Given the description of an element on the screen output the (x, y) to click on. 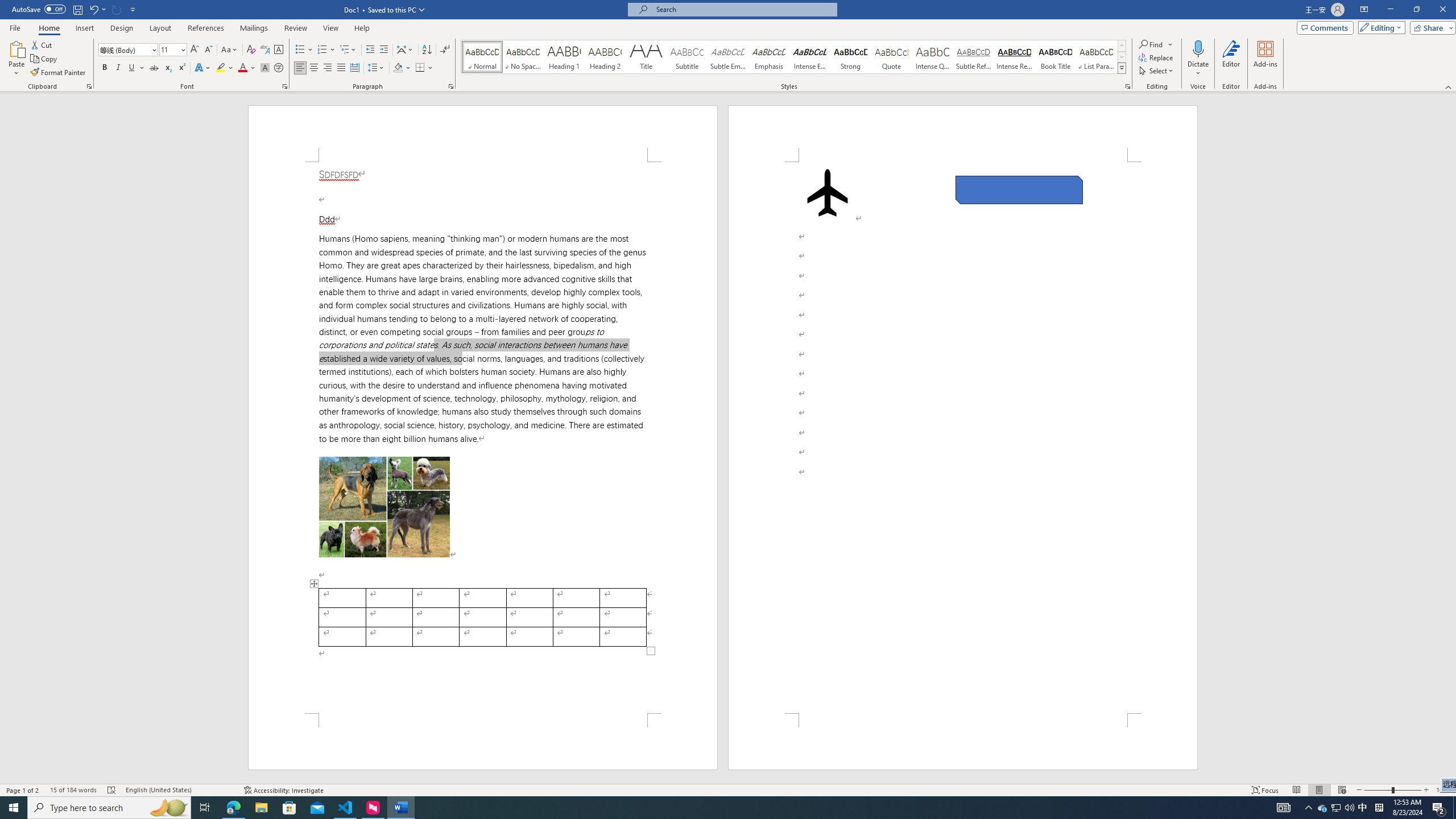
Format Painter (58, 72)
Text Effects and Typography (202, 67)
Subscript (167, 67)
Clear Formatting (250, 49)
Morphological variation in six dogs (383, 507)
Cut (42, 44)
